Given the description of an element on the screen output the (x, y) to click on. 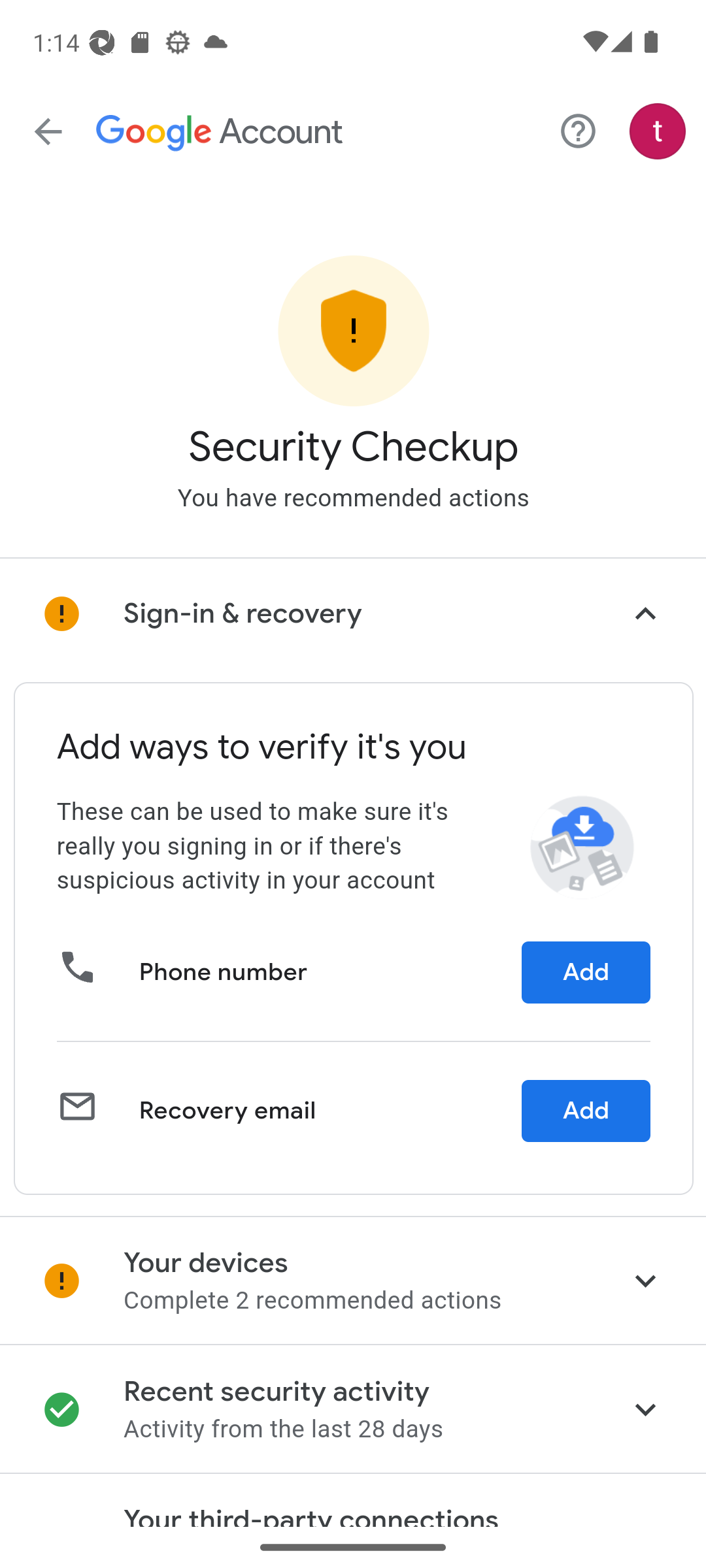
Navigate up (48, 131)
Help & feedback (577, 131)
Issues found in sign-in & recovery (353, 612)
Add your phone number (586, 971)
Add a recovery email (586, 1110)
